Given the description of an element on the screen output the (x, y) to click on. 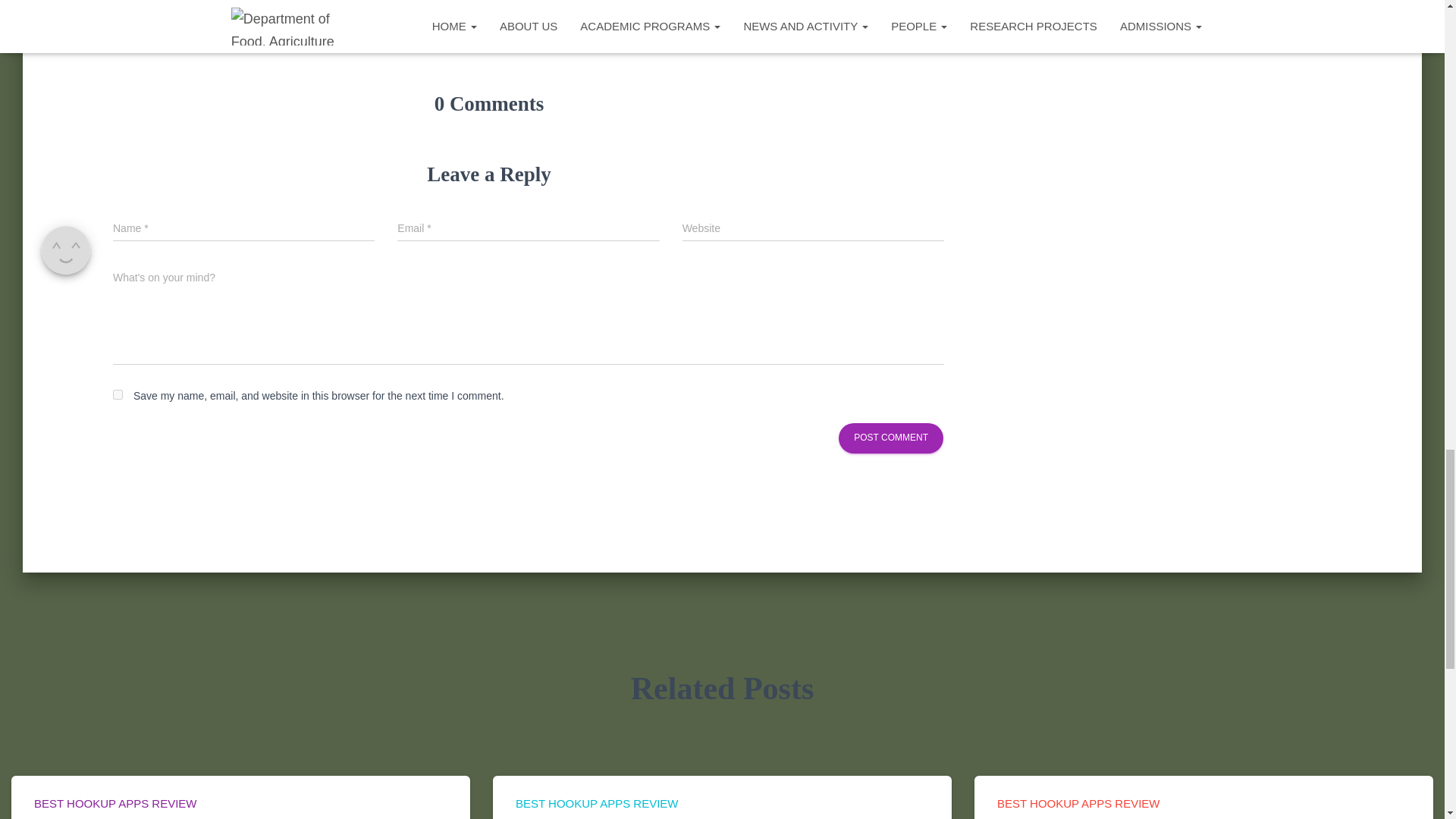
yes (117, 394)
BEST HOOKUP APPS REVIEW (596, 802)
Post Comment (890, 437)
Post Comment (890, 437)
BEST HOOKUP APPS REVIEW (114, 802)
